Given the description of an element on the screen output the (x, y) to click on. 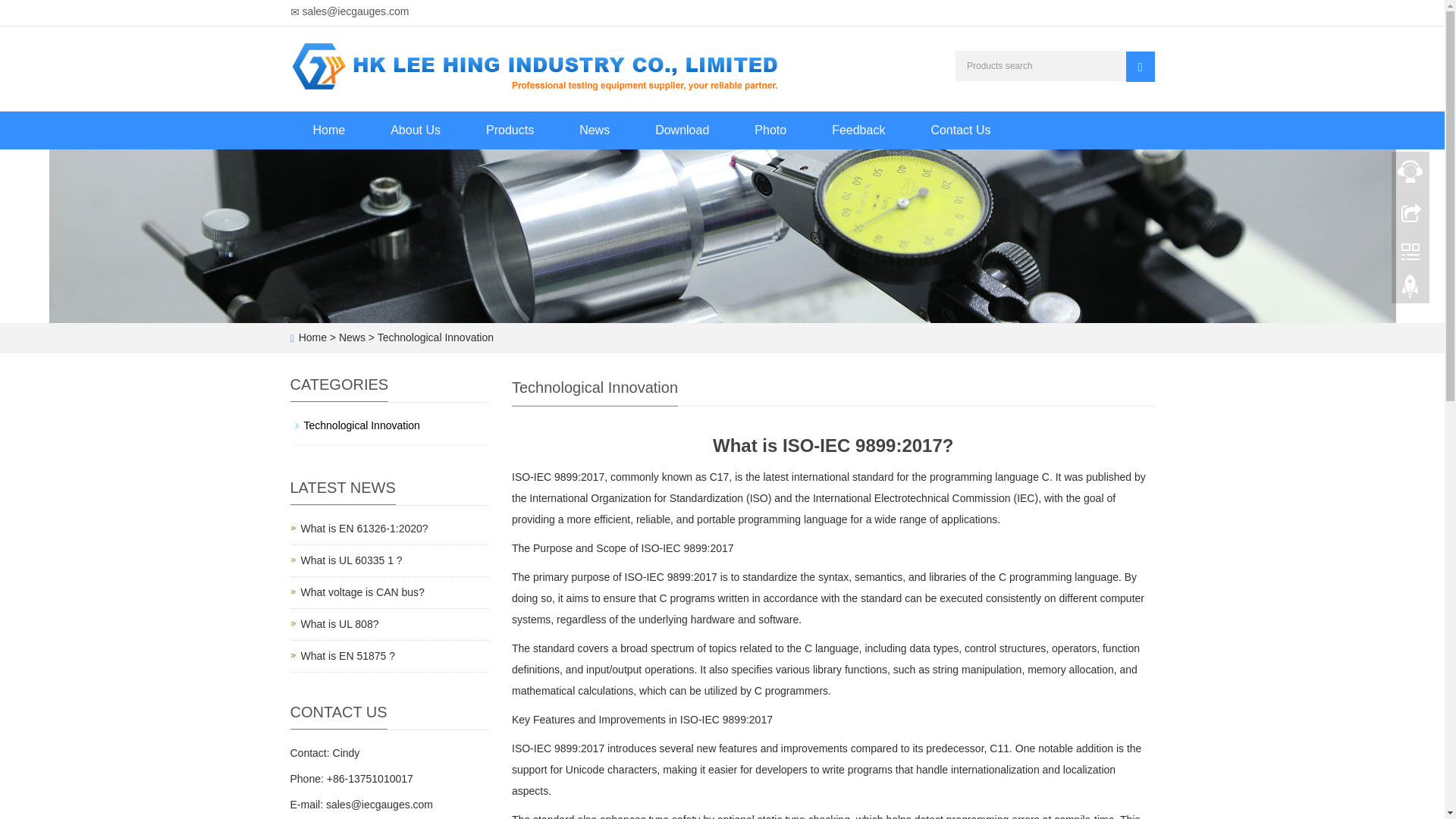
Photo (350, 560)
Top (770, 130)
About Us (346, 655)
News (1410, 290)
Products (415, 130)
What voltage is CAN bus? (593, 130)
Download (509, 130)
What is EN 61326-1:2020?  (361, 592)
